Given the description of an element on the screen output the (x, y) to click on. 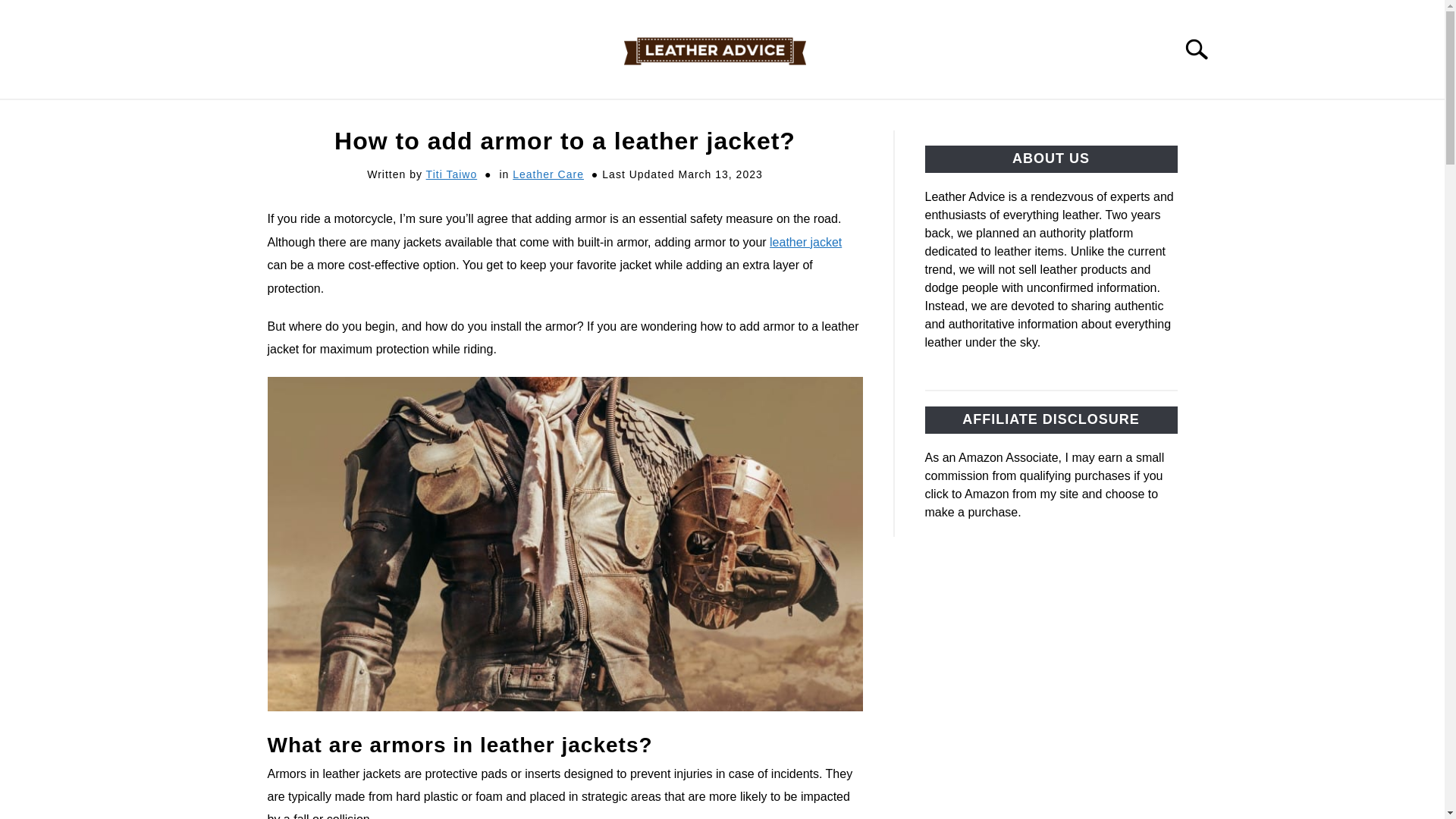
leather jacket (805, 241)
GENERAL INFO (858, 117)
Leather Care (547, 174)
HOME (555, 117)
LEATHER CARE (726, 117)
Titi Taiwo (451, 174)
BLOG (625, 117)
Search (1203, 49)
